Given the description of an element on the screen output the (x, y) to click on. 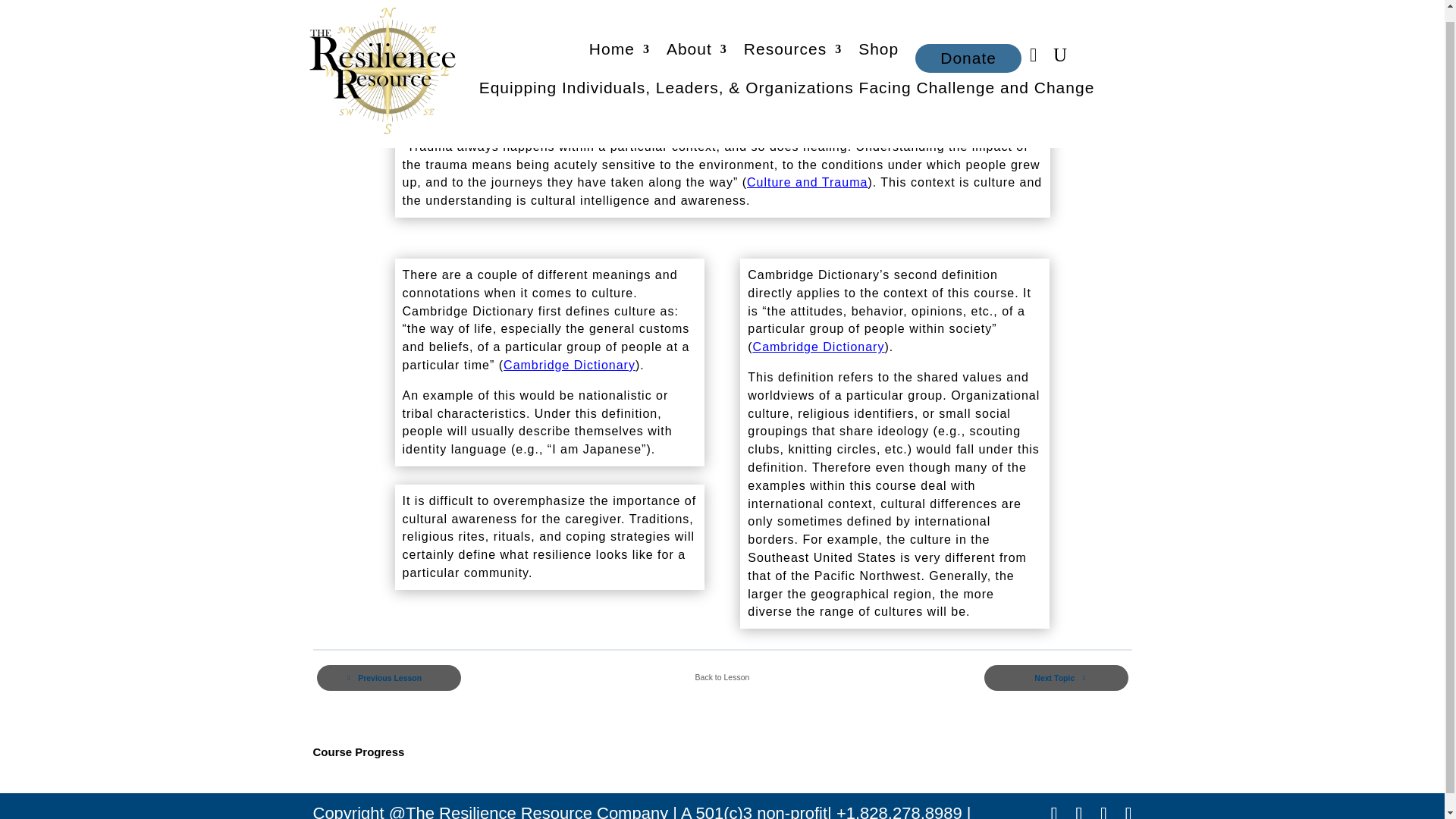
Caring in Cross Cultural Contexts (387, 94)
Cambridge Dictionary (568, 364)
What is Culture? (491, 94)
Shop (878, 40)
Culture and Trauma (806, 182)
Home (619, 40)
The-Resilience-Resource-Web-Logo (384, 65)
Next Topic (1056, 678)
About (696, 40)
Resources (792, 40)
